Given the description of an element on the screen output the (x, y) to click on. 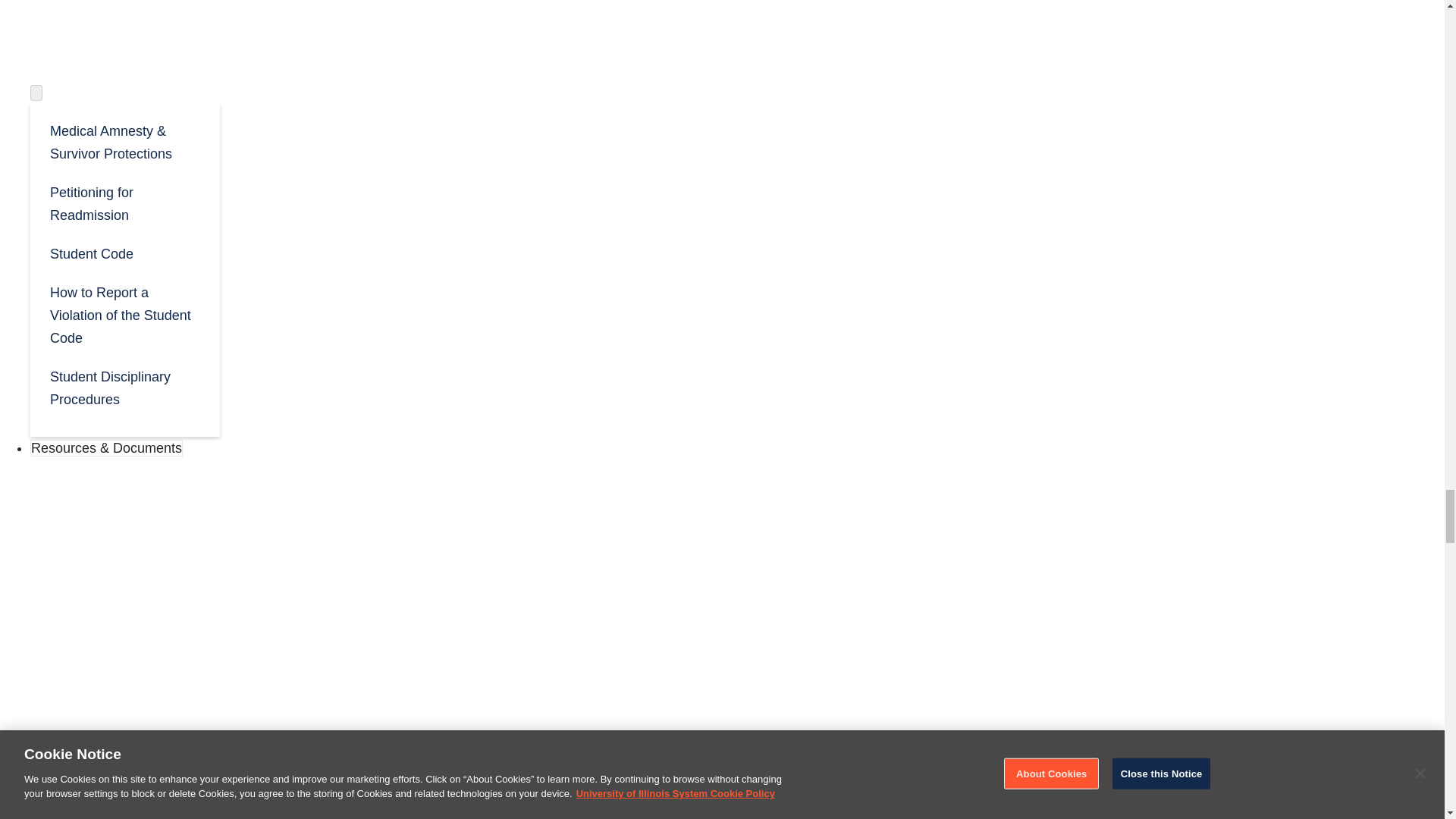
Petitioning for Readmission (125, 202)
Student Disciplinary Procedures (125, 386)
Student Code (125, 252)
How to Report a Violation of the Student Code (125, 313)
